Given the description of an element on the screen output the (x, y) to click on. 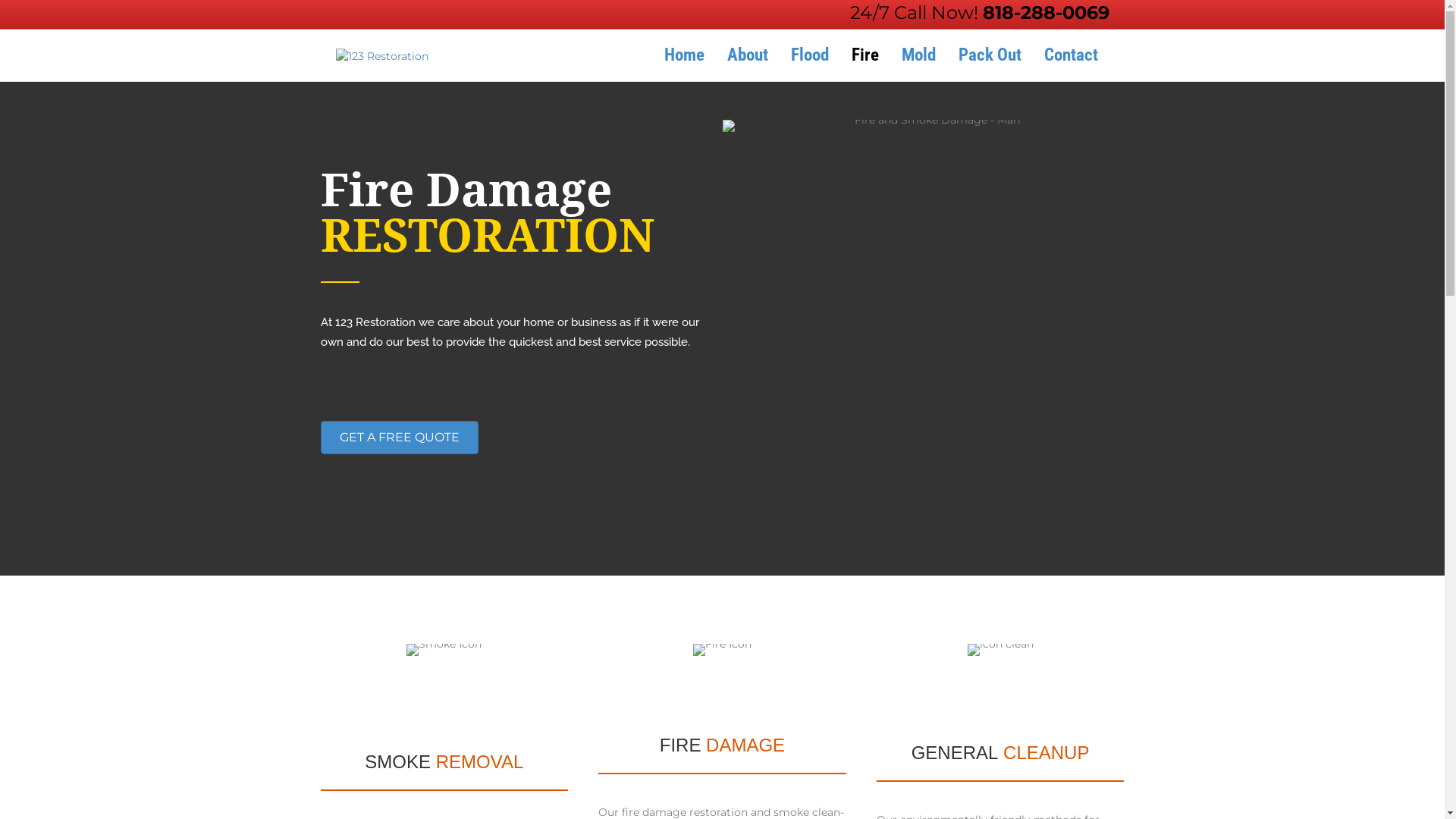
818-288-0069 Element type: text (1045, 12)
Pack Out Element type: text (989, 54)
Fire Icon Element type: hover (722, 672)
Home Element type: text (683, 54)
Smoke Icon Element type: hover (443, 680)
GET A FREE QUOTE Element type: text (398, 437)
Fire Element type: text (865, 54)
Flood Element type: text (809, 54)
Mold Element type: text (918, 54)
About Element type: text (747, 54)
Fire and Smoke Damage - Man Element type: hover (930, 346)
Contact Element type: text (1070, 54)
icon clean Element type: hover (1000, 676)
